Given the description of an element on the screen output the (x, y) to click on. 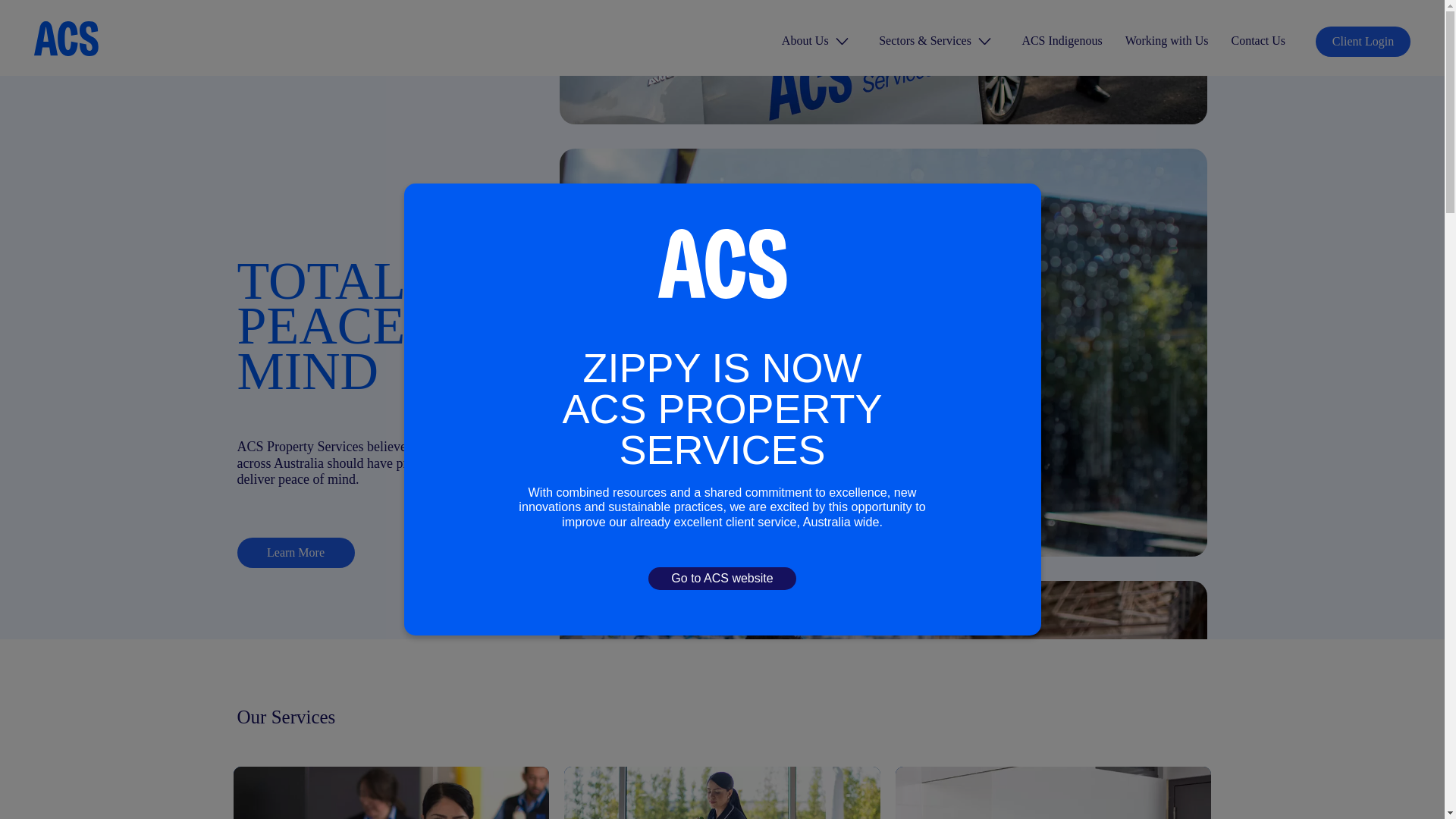
Working with Us (391, 792)
ACS Indigenous (1166, 39)
About Us (1062, 39)
Contact Us (722, 792)
Learn More (804, 39)
Client Login (1257, 39)
Skip to content (294, 552)
